Given the description of an element on the screen output the (x, y) to click on. 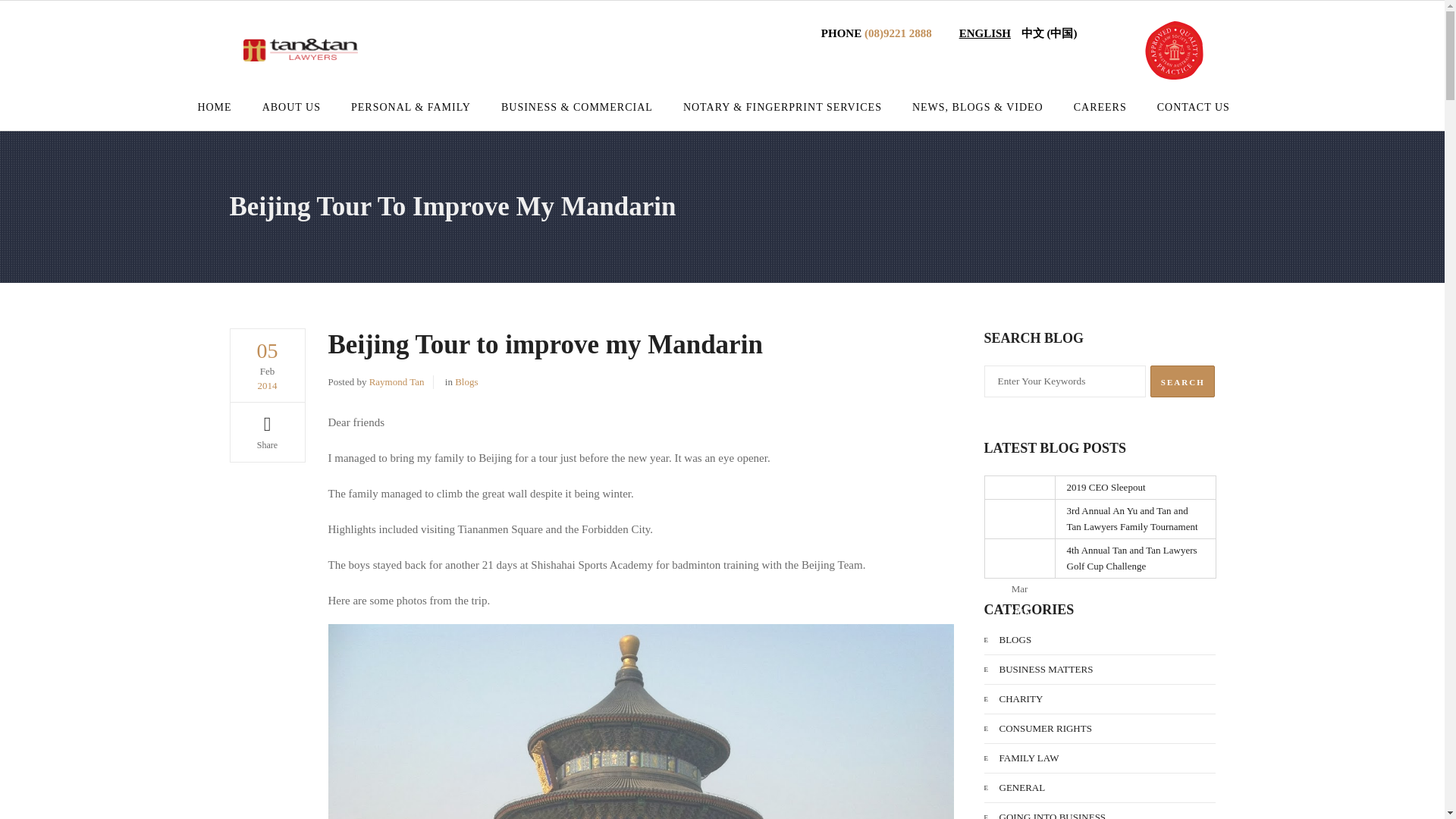
ABOUT US (291, 107)
Search (1182, 381)
HOME (221, 107)
Search (1182, 381)
ENGLISH (984, 33)
